Given the description of an element on the screen output the (x, y) to click on. 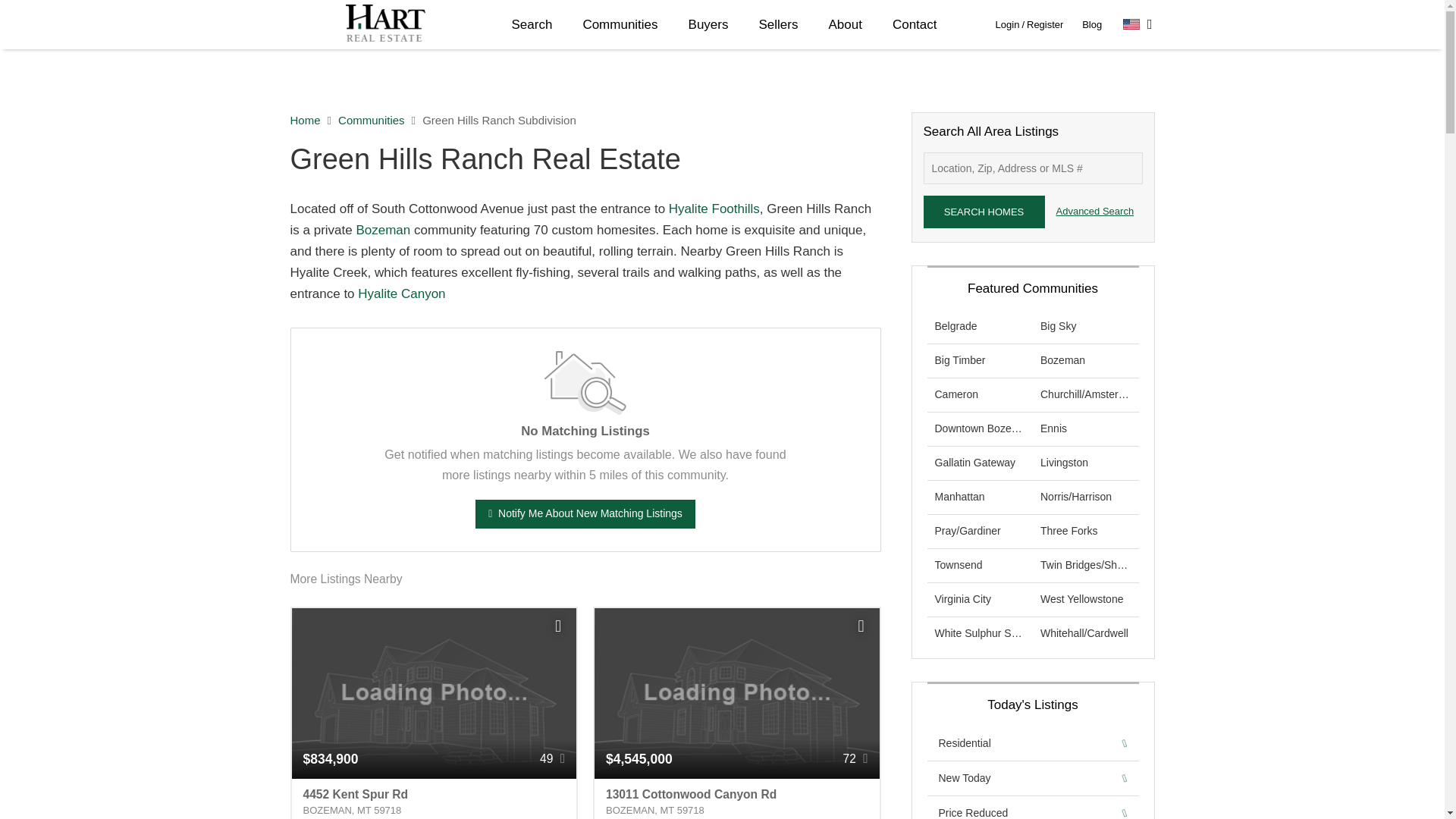
About (844, 24)
Select Language (1137, 24)
4452 Kent Spur Rd Bozeman,  MT 59718 (433, 798)
13011 Cottonwood Canyon Rd Bozeman,  MT 59718 (736, 798)
Contact (914, 24)
Sellers (777, 24)
Search (531, 24)
Buyers (708, 24)
Blog (1091, 24)
Register (1044, 24)
